Given the description of an element on the screen output the (x, y) to click on. 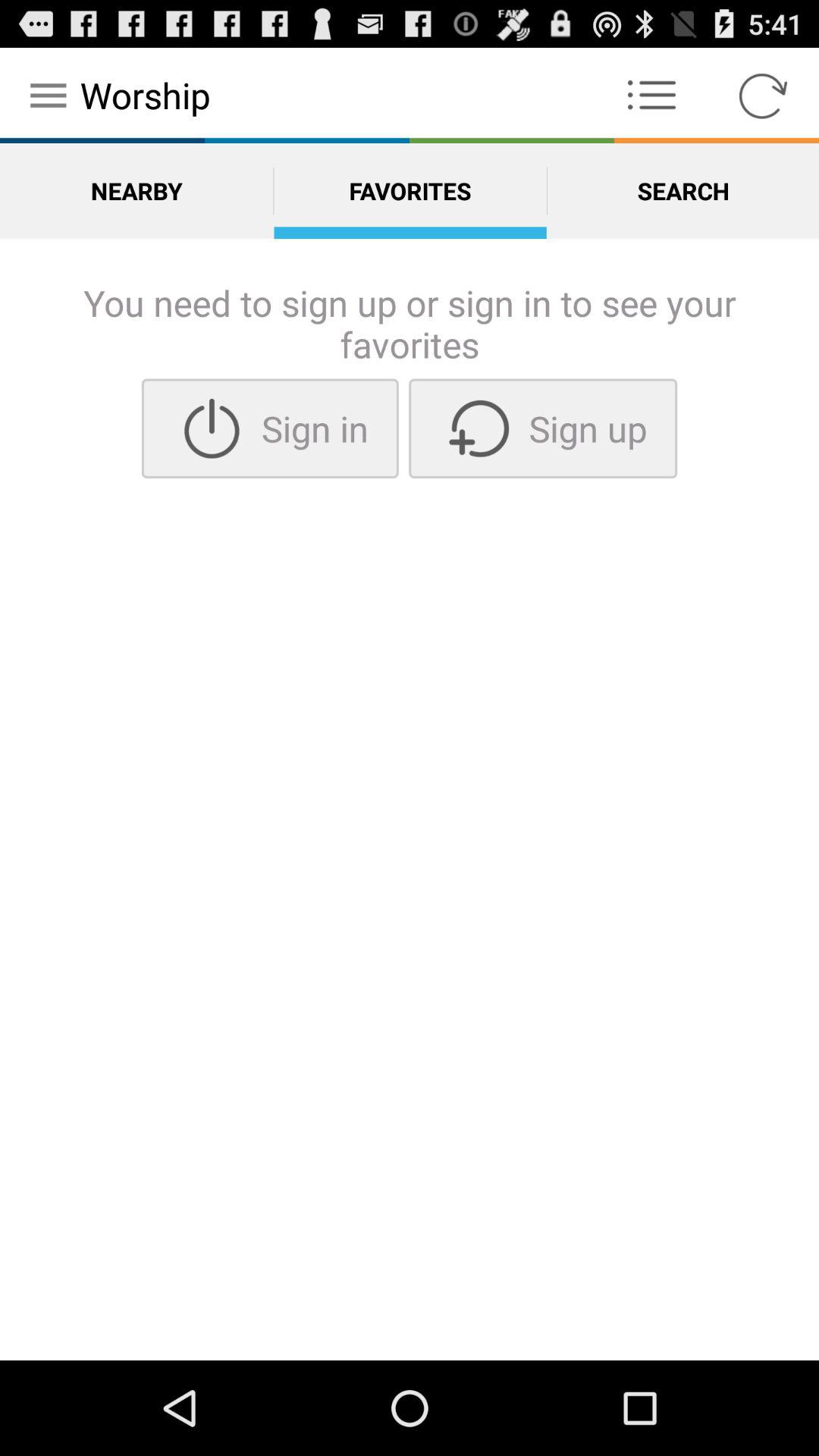
tap app next to worship item (651, 95)
